Given the description of an element on the screen output the (x, y) to click on. 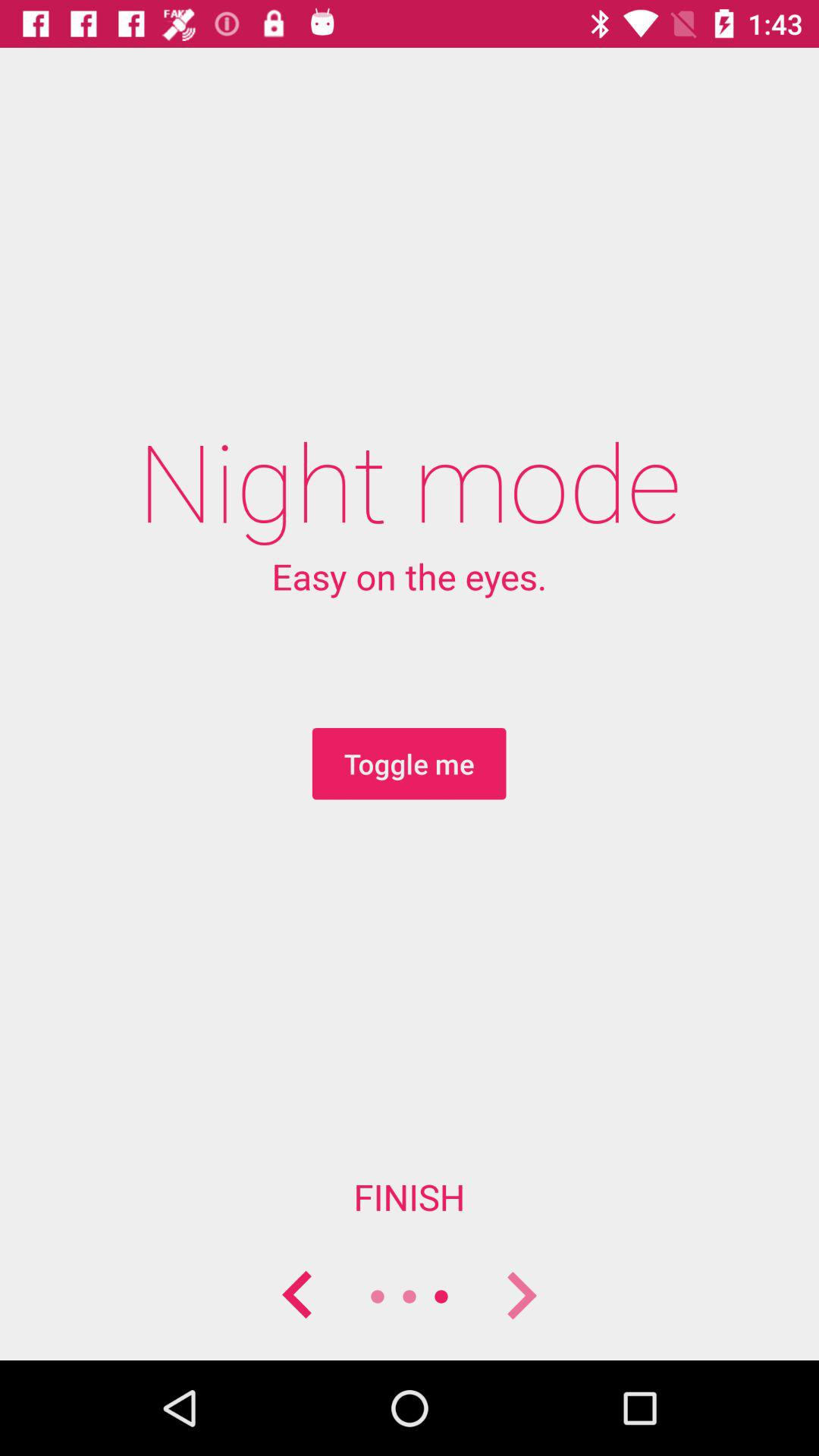
launch the toggle me icon (409, 763)
